Given the description of an element on the screen output the (x, y) to click on. 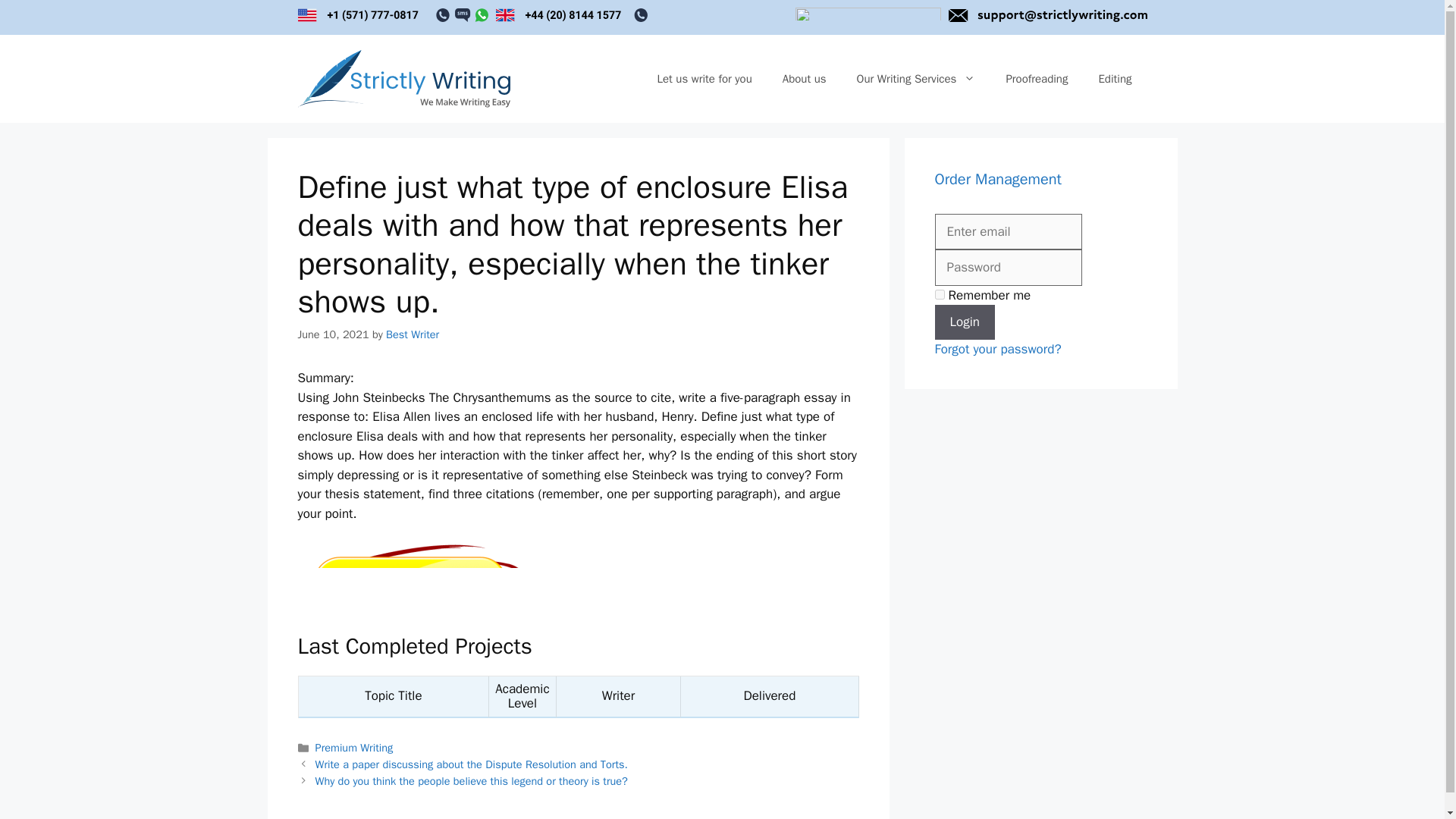
Our Writing Services (916, 78)
on (938, 294)
View all posts by Best Writer (412, 334)
About us (804, 78)
click to Login (964, 321)
Editing (1115, 78)
Best Writer (412, 334)
Forgot your password? (997, 349)
Recover password (997, 349)
Let us write for you (704, 78)
Premium Writing (354, 747)
Login (964, 321)
Proofreading (1036, 78)
